Given the description of an element on the screen output the (x, y) to click on. 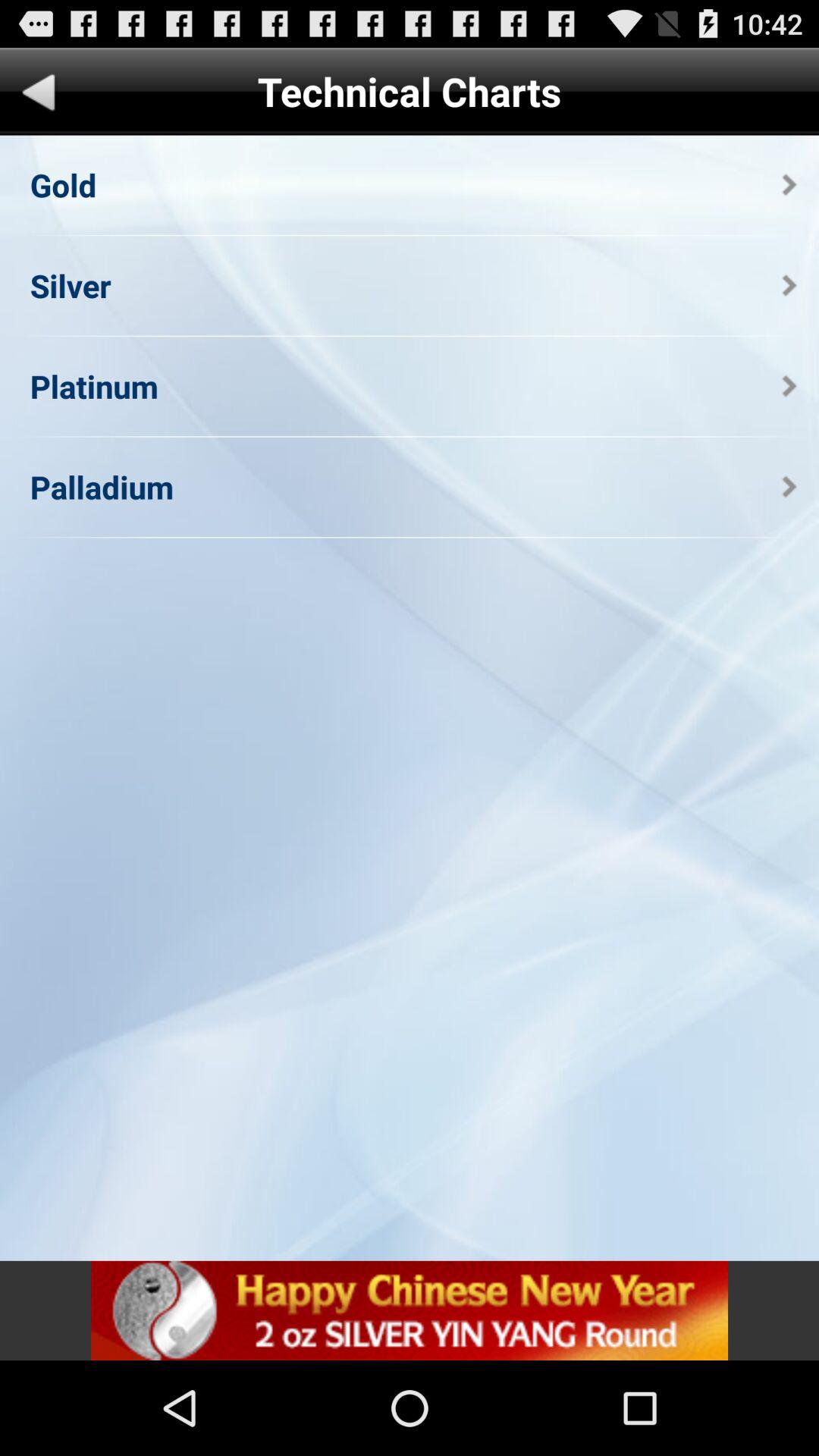
open palladium app (101, 486)
